Given the description of an element on the screen output the (x, y) to click on. 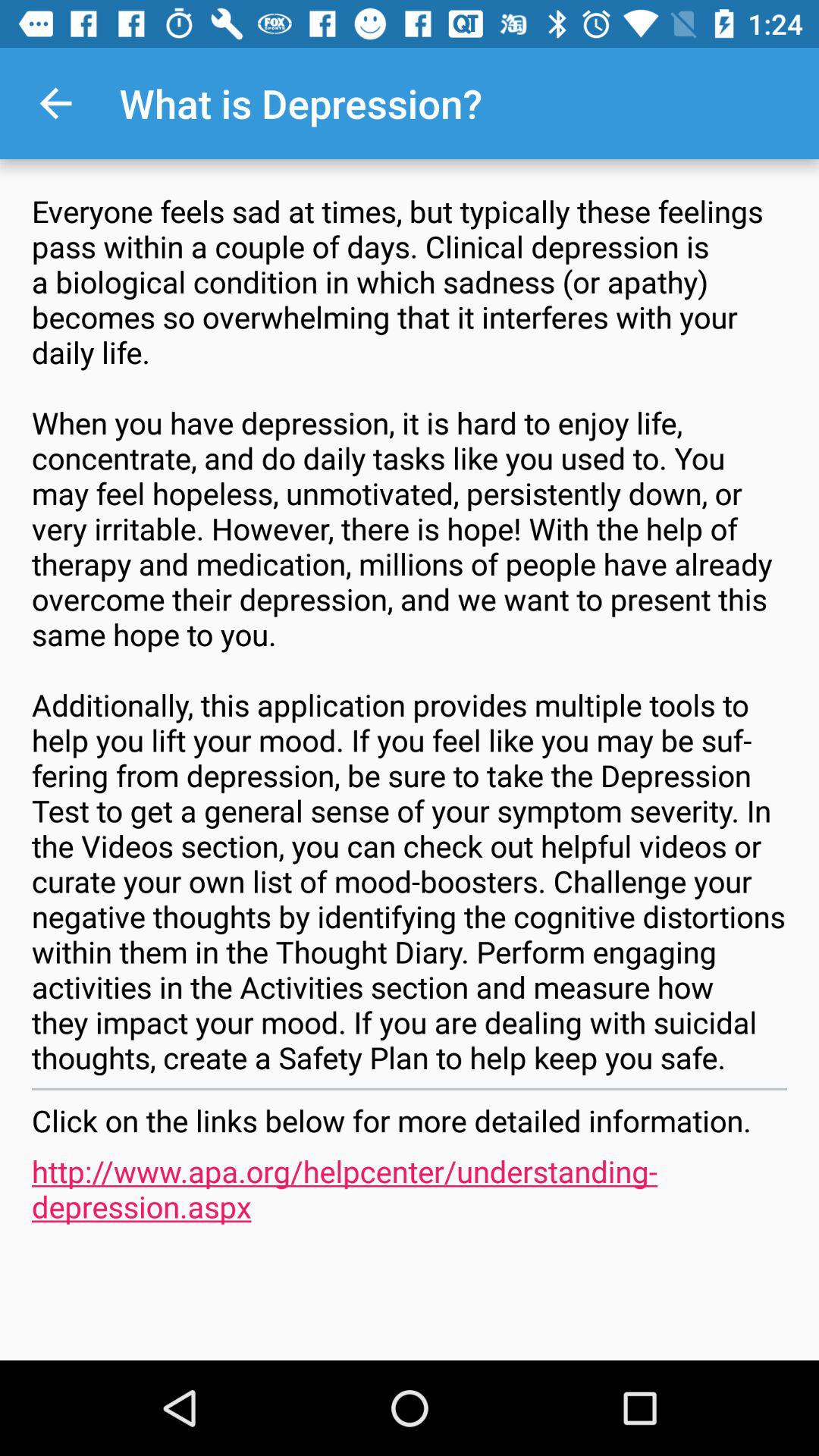
choose the item to the left of what is depression?  app (55, 103)
